Given the description of an element on the screen output the (x, y) to click on. 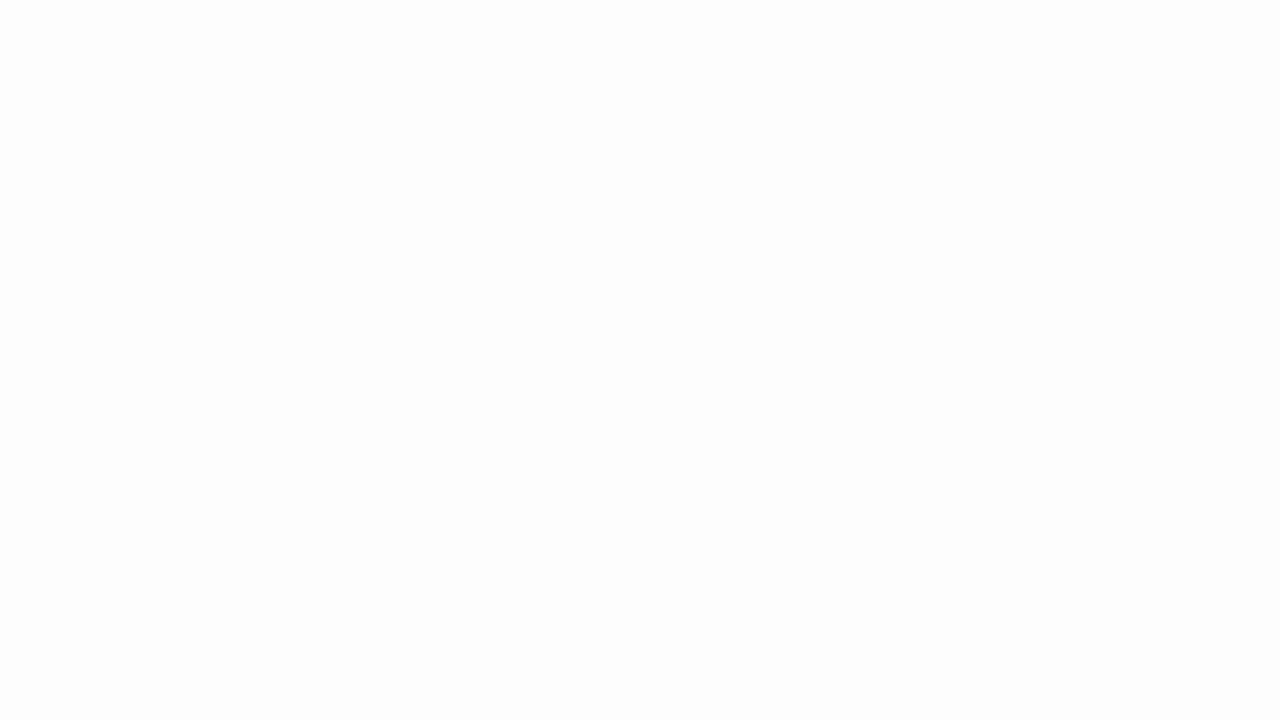
Center (485, 119)
Increase Font Size (399, 87)
Copy (85, 103)
Merge & Center (649, 119)
Decrease Indent (540, 119)
Font (250, 87)
Format as Table (990, 102)
Bottom Border (278, 119)
Top Align (461, 87)
Bottom Align (509, 87)
